Given the description of an element on the screen output the (x, y) to click on. 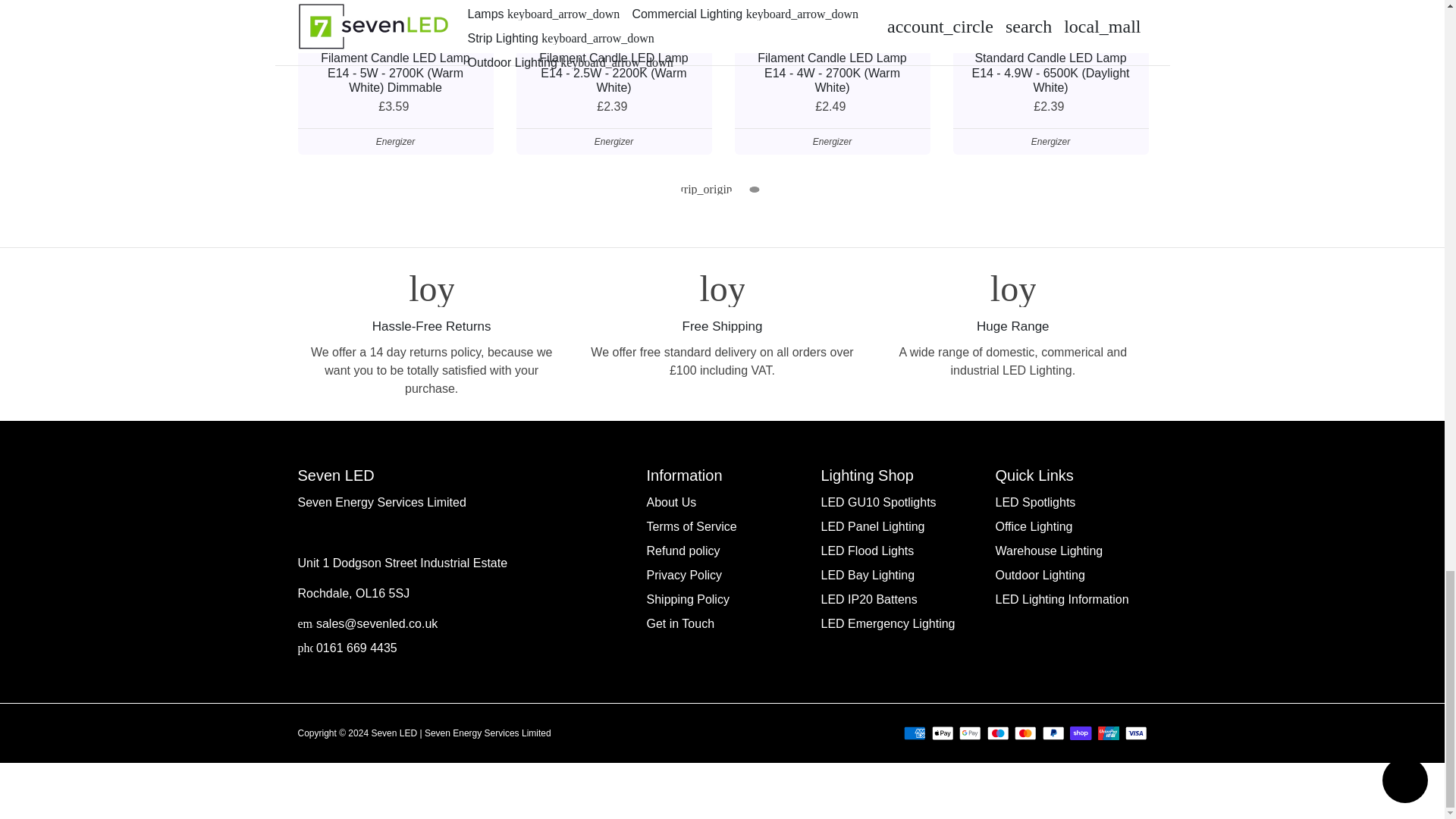
American Express (915, 733)
Visa (1136, 733)
Shop Pay (1081, 733)
Google Pay (970, 733)
Apple Pay (941, 733)
Union Pay (1108, 733)
Maestro (998, 733)
PayPal (1052, 733)
Mastercard (1025, 733)
